Given the description of an element on the screen output the (x, y) to click on. 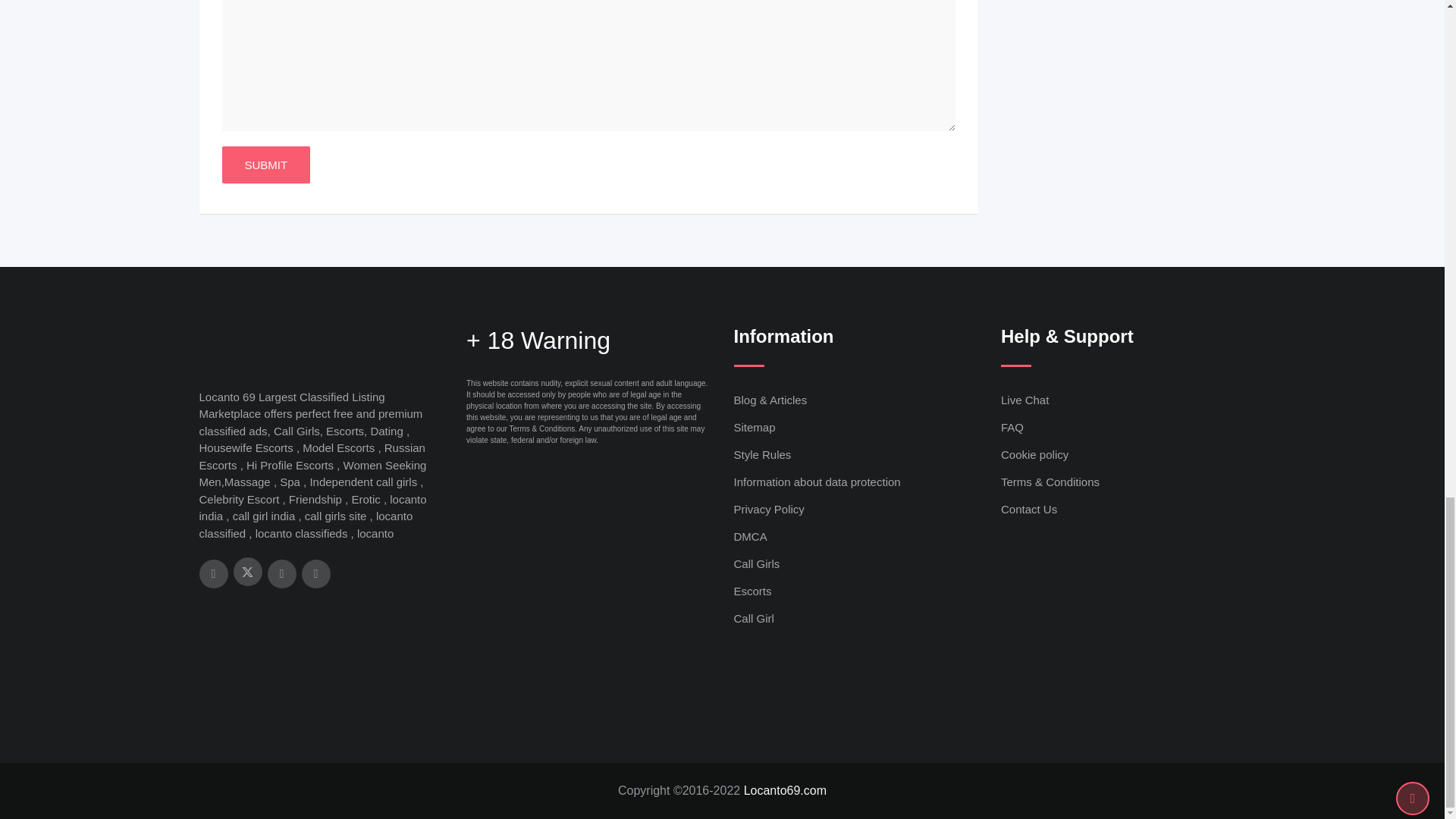
DMCA.com Protection Status (1114, 648)
Protected by Copyscape - Do not copy content from this page. (1042, 556)
Submit (265, 164)
Submit (265, 164)
